Given the description of an element on the screen output the (x, y) to click on. 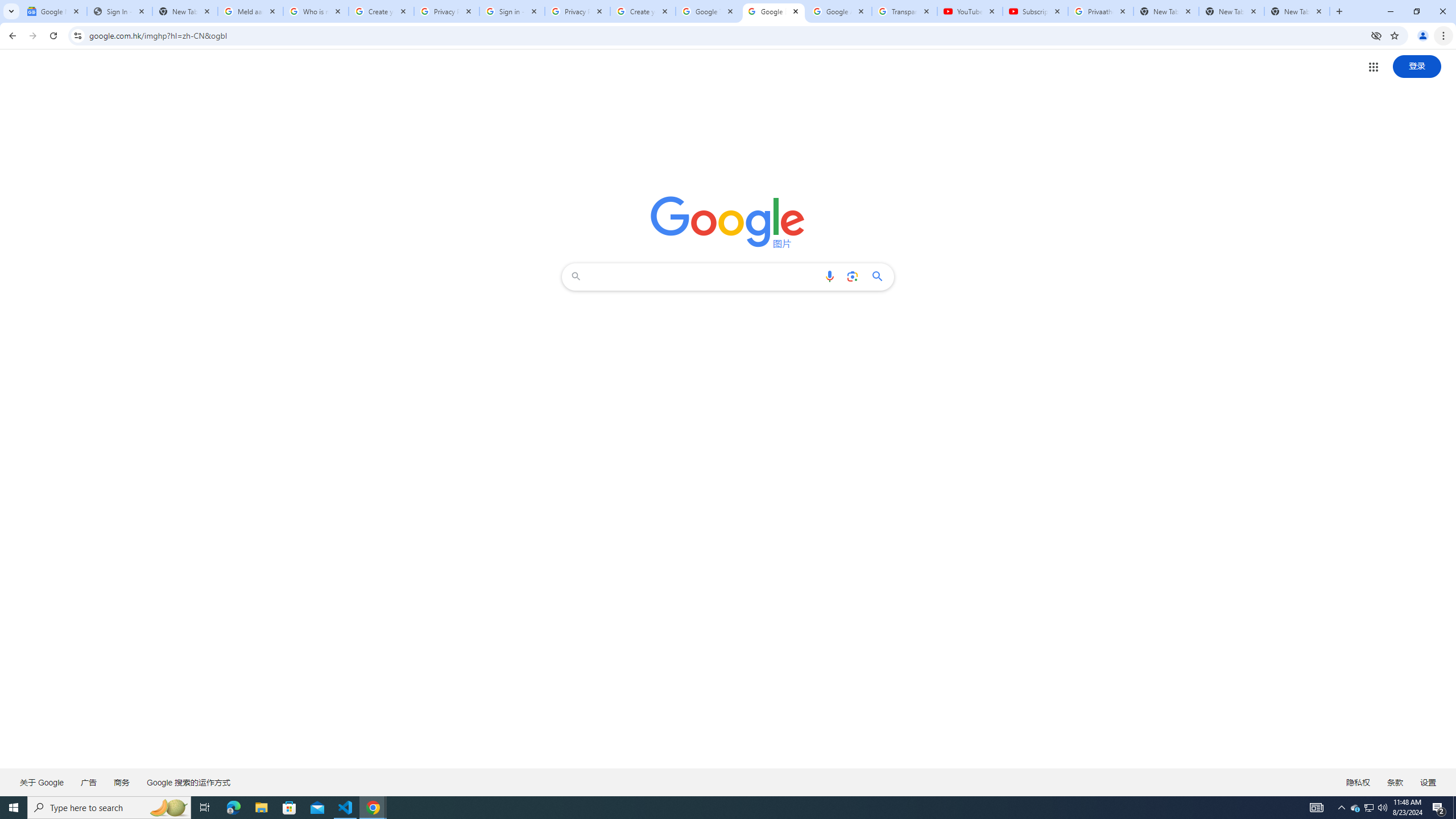
New Tab (1297, 11)
